Given the description of an element on the screen output the (x, y) to click on. 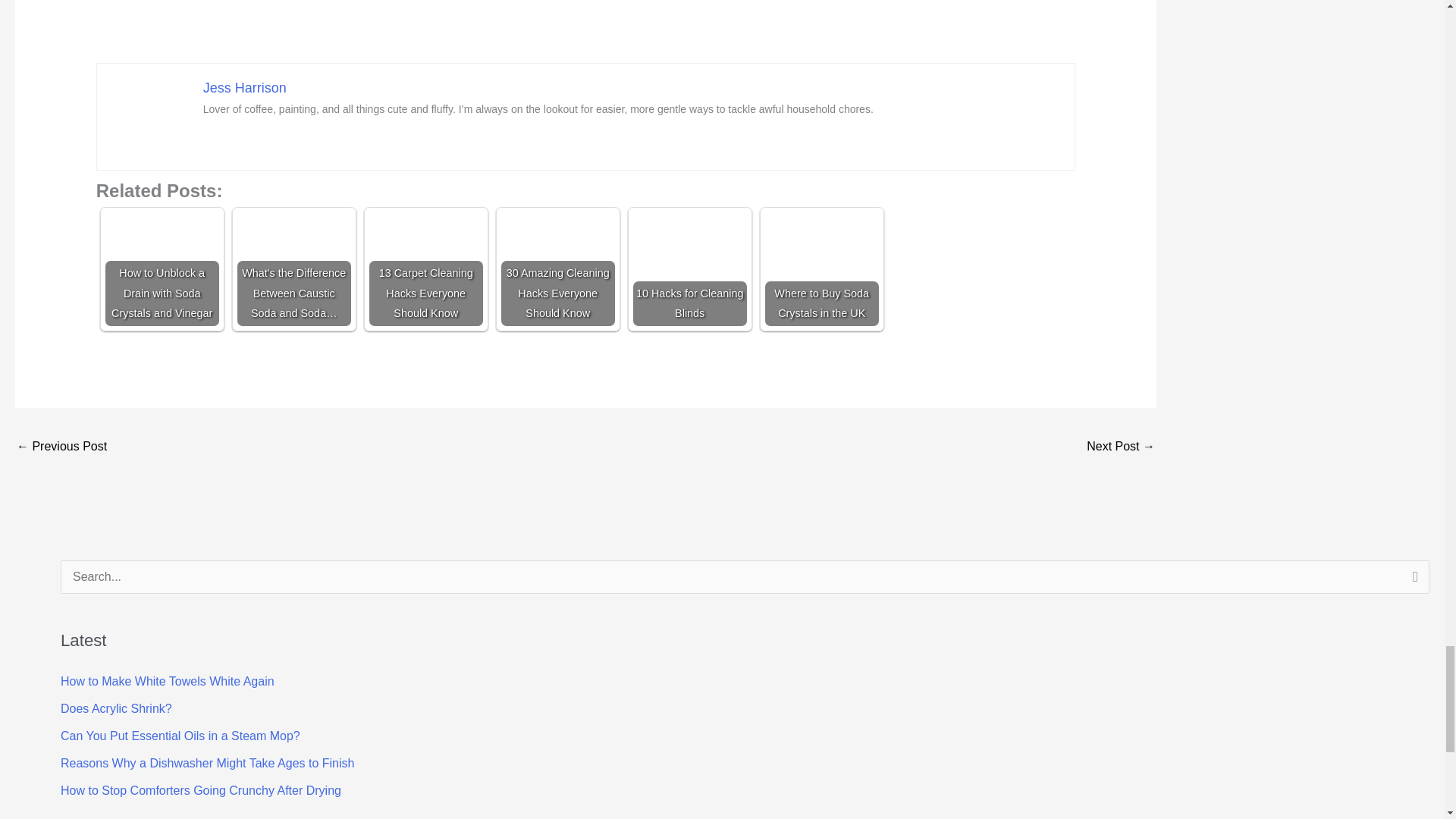
13 Carpet Cleaning Hacks Everyone Should Know (426, 268)
Where to Buy Soda Crystals in the UK (822, 268)
10 Hacks for Cleaning Blinds (689, 268)
How to Unblock a Dishwasher (61, 447)
How to Unblock a Drain with Soda Crystals and Vinegar (161, 268)
Jess Harrison (244, 87)
30 Amazing Cleaning Hacks Everyone Should Know (557, 268)
Search (1411, 581)
Search (1411, 581)
What Are Soda Crystals? (1120, 447)
